Given the description of an element on the screen output the (x, y) to click on. 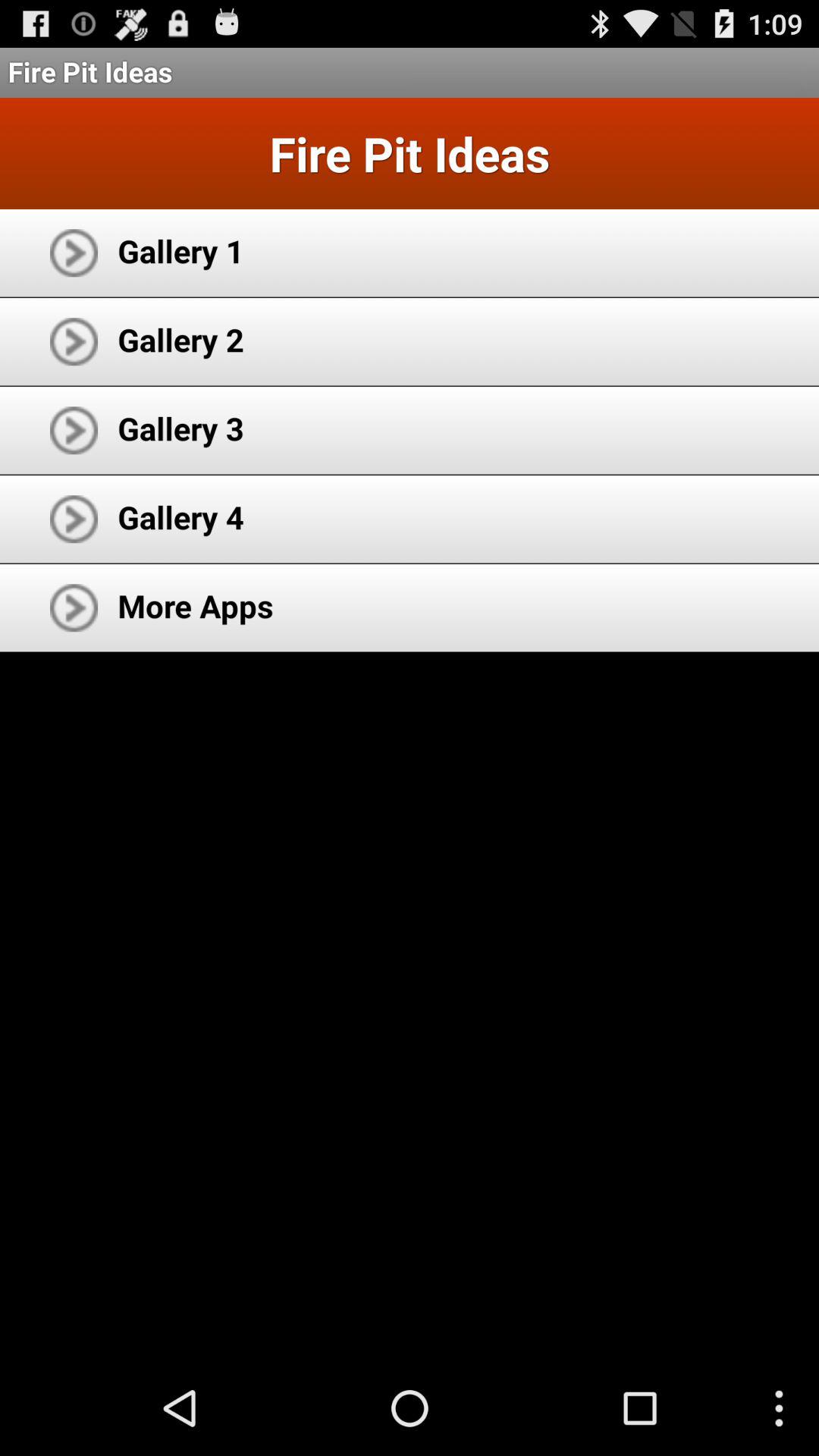
choose gallery 3 app (180, 427)
